Given the description of an element on the screen output the (x, y) to click on. 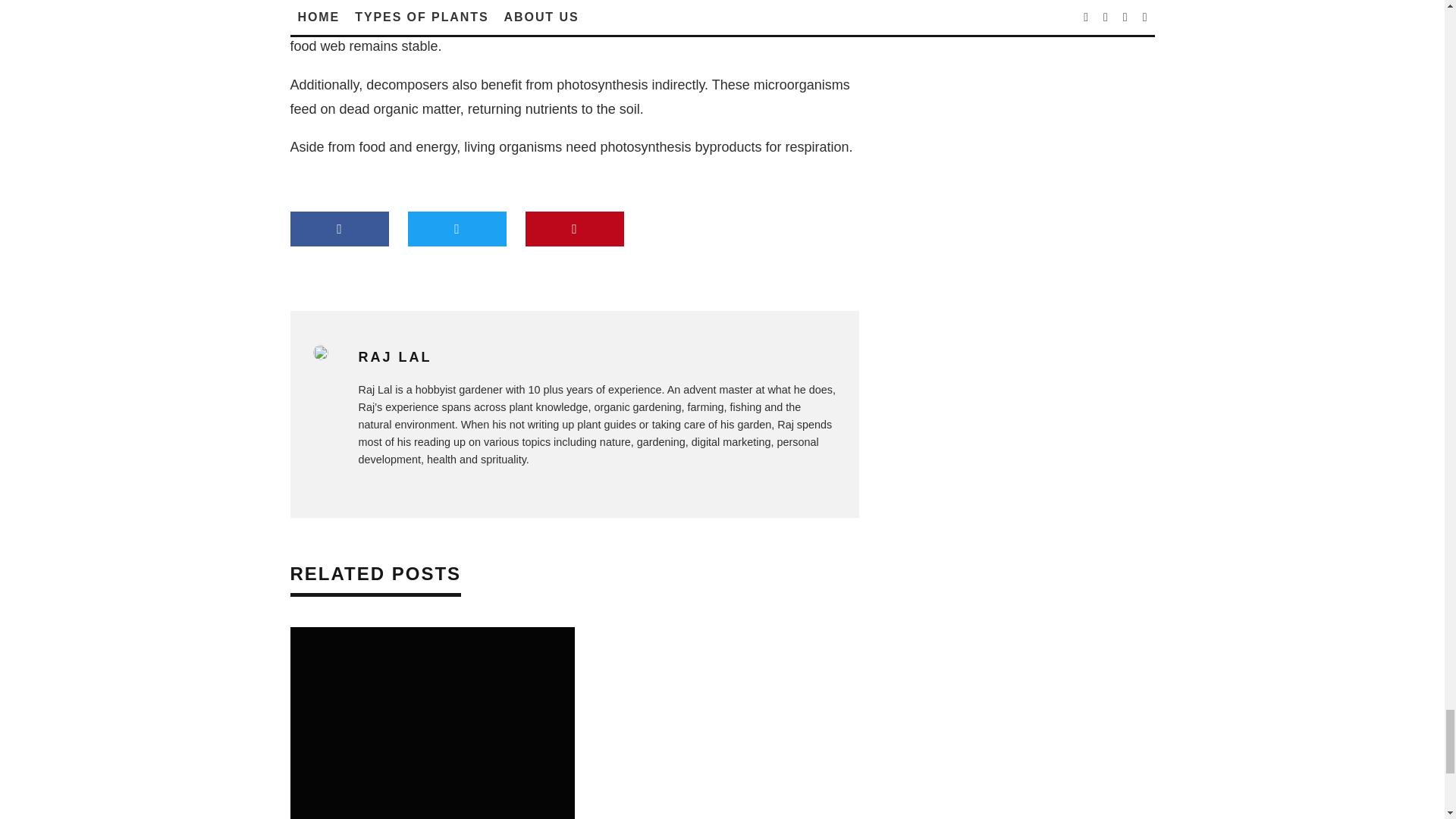
RAJ LAL (394, 356)
